Given the description of an element on the screen output the (x, y) to click on. 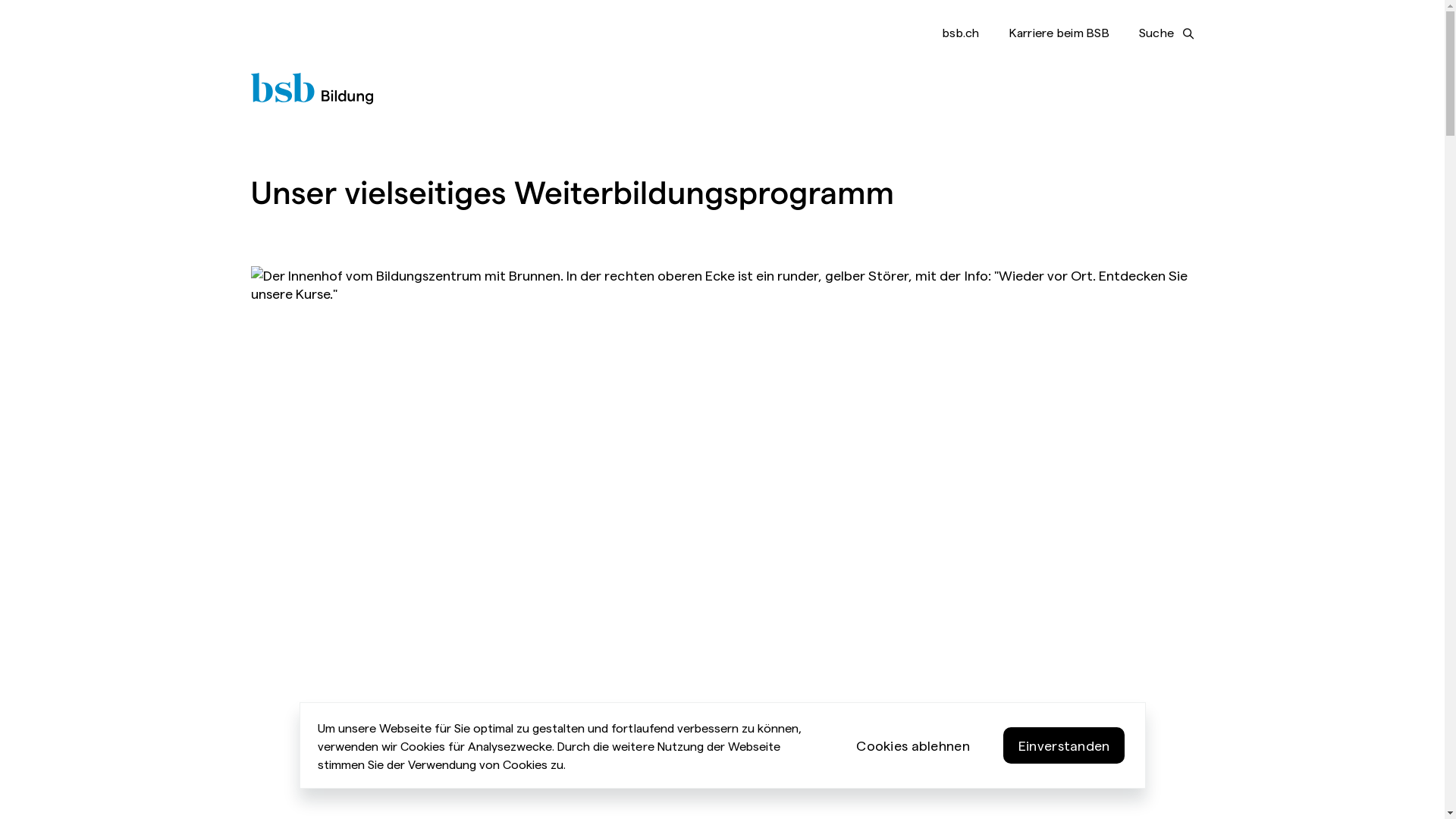
Karriere beim BSB Element type: text (1059, 31)
Einverstanden Element type: text (1064, 745)
Cookies ablehnen Element type: text (912, 745)
Suche Element type: text (1166, 32)
bsb.ch Element type: text (960, 31)
